Given the description of an element on the screen output the (x, y) to click on. 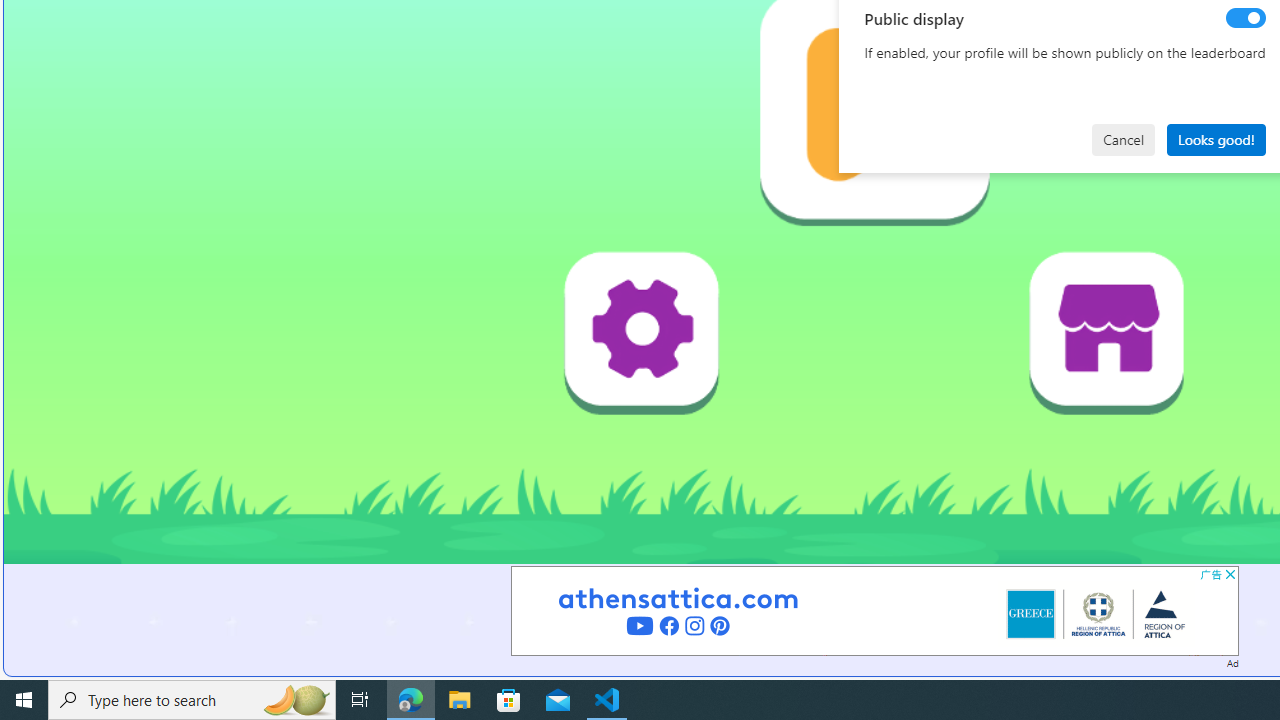
Advertisement (874, 610)
Advertisement (874, 610)
Looks good! (1216, 139)
AutomationID: cbb (1229, 574)
Cancel (1123, 139)
